Given the description of an element on the screen output the (x, y) to click on. 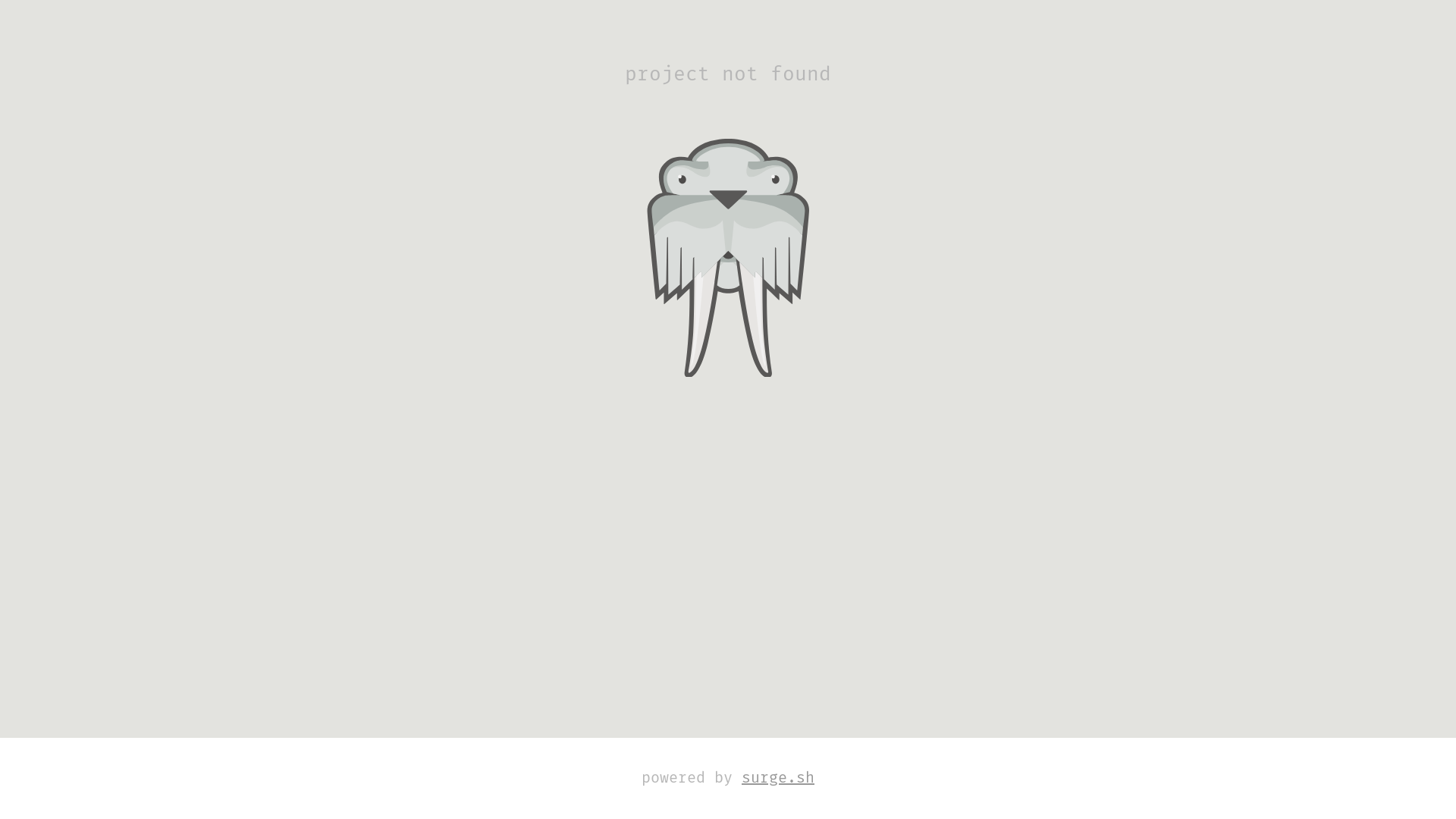
surge.sh Element type: text (777, 777)
